Given the description of an element on the screen output the (x, y) to click on. 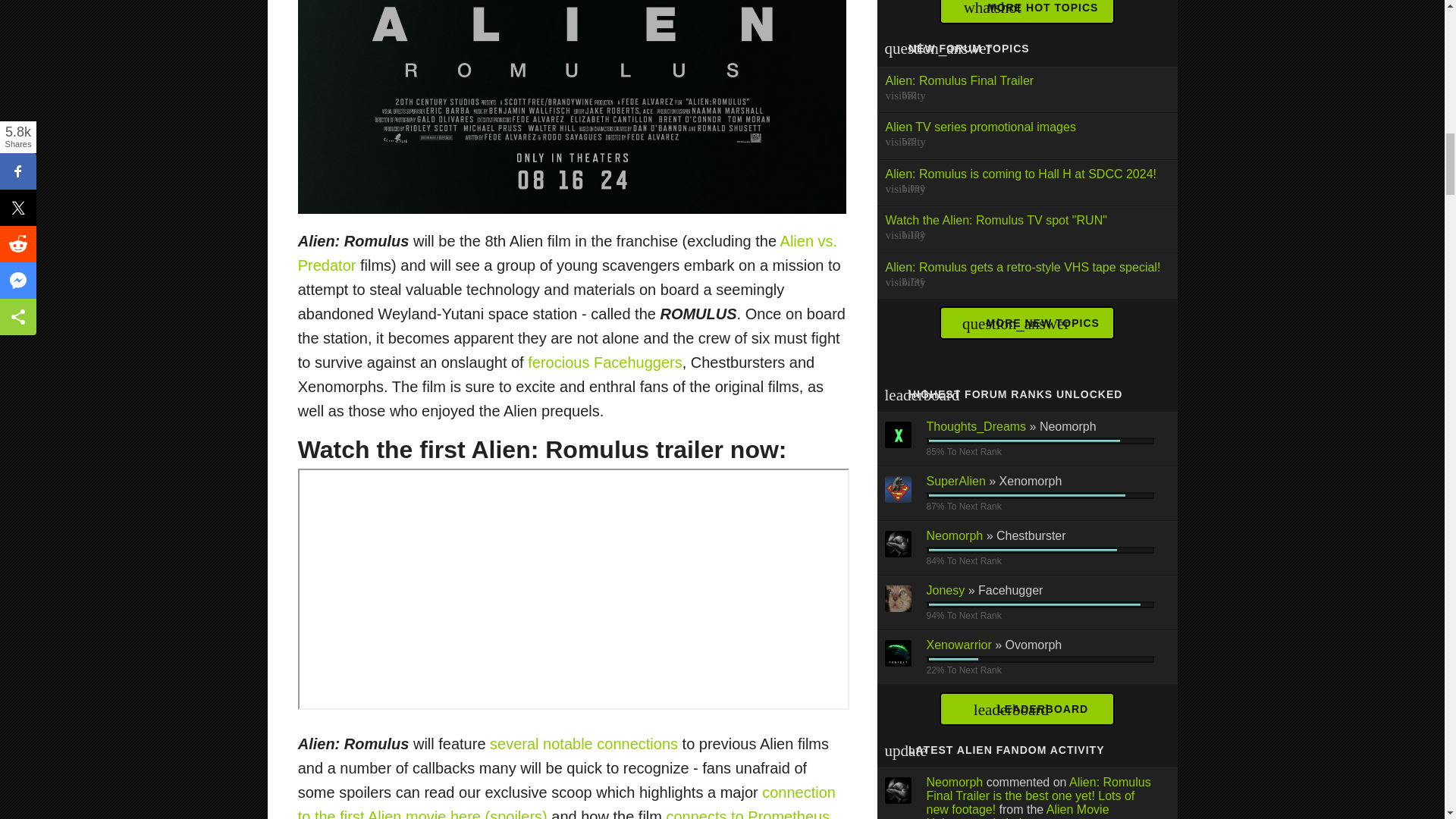
Alien vs. Predator (567, 252)
connects to Prometheus here (563, 813)
ferocious Facehuggers (604, 362)
several notable connections (583, 743)
